Given the description of an element on the screen output the (x, y) to click on. 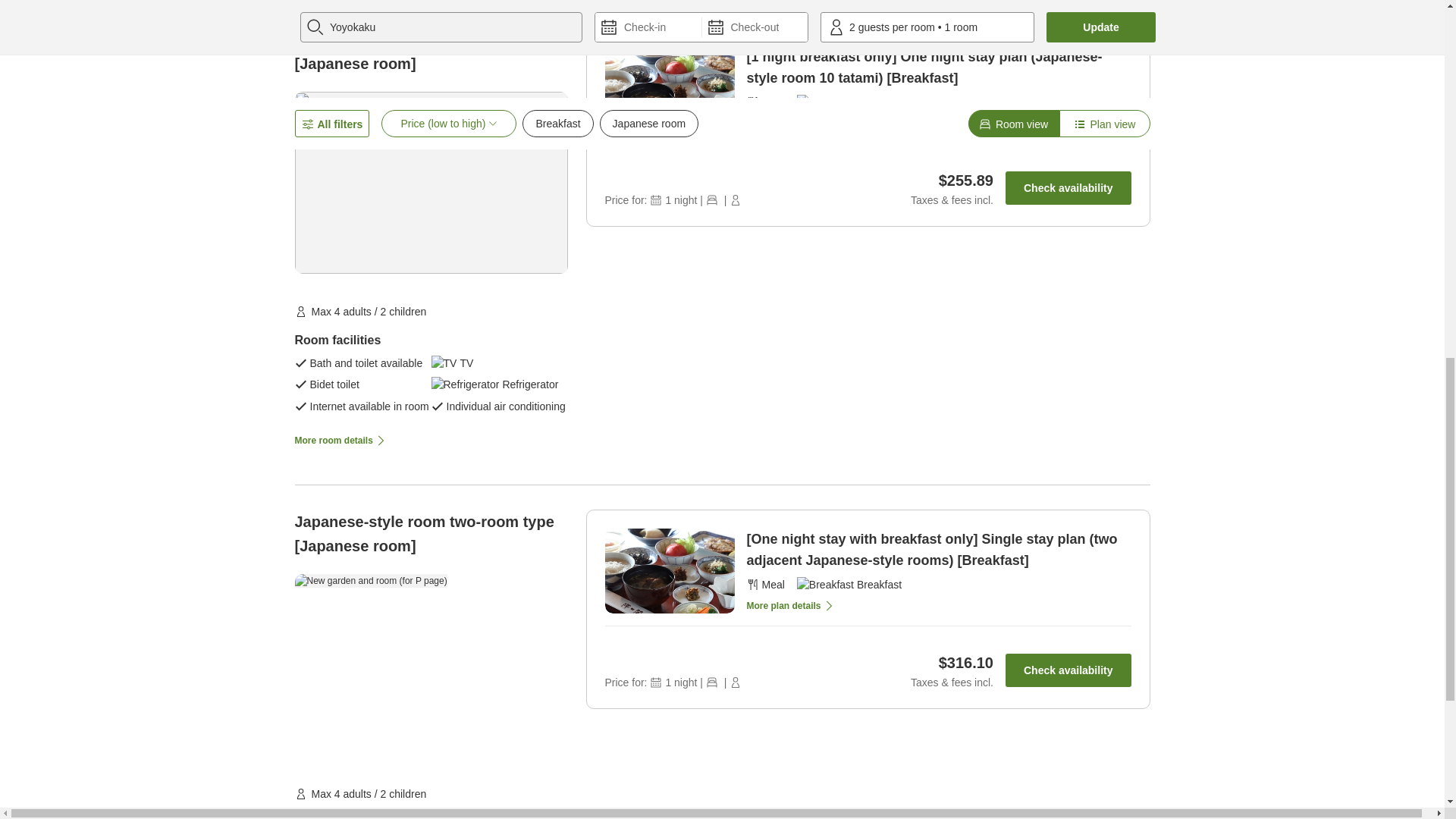
More plan details (789, 120)
Check availability (1068, 670)
Check availability (1068, 187)
More plan details (789, 602)
More room details (339, 440)
